Given the description of an element on the screen output the (x, y) to click on. 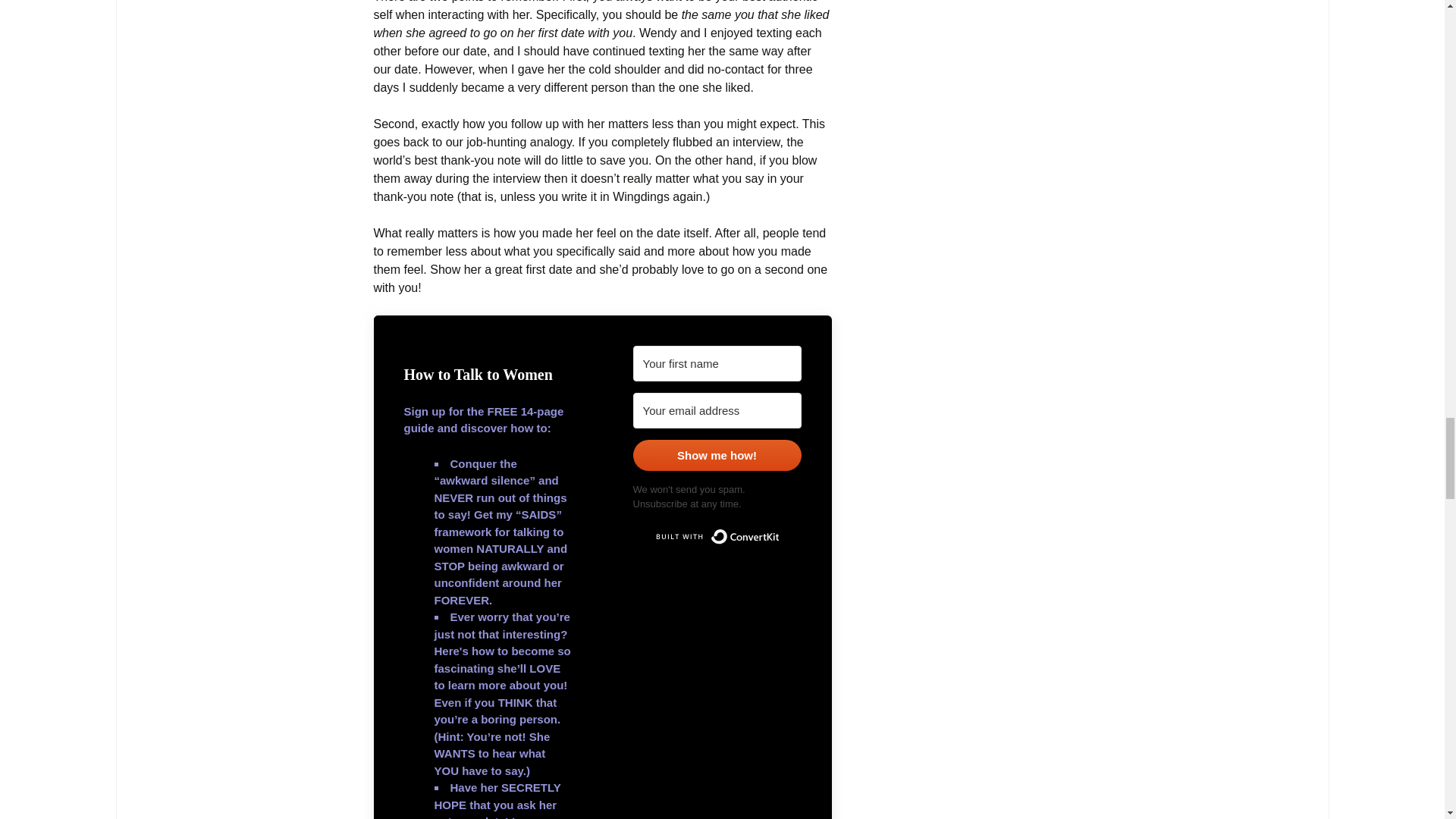
Built with ConvertKit (715, 536)
Show me how! (715, 454)
